Given the description of an element on the screen output the (x, y) to click on. 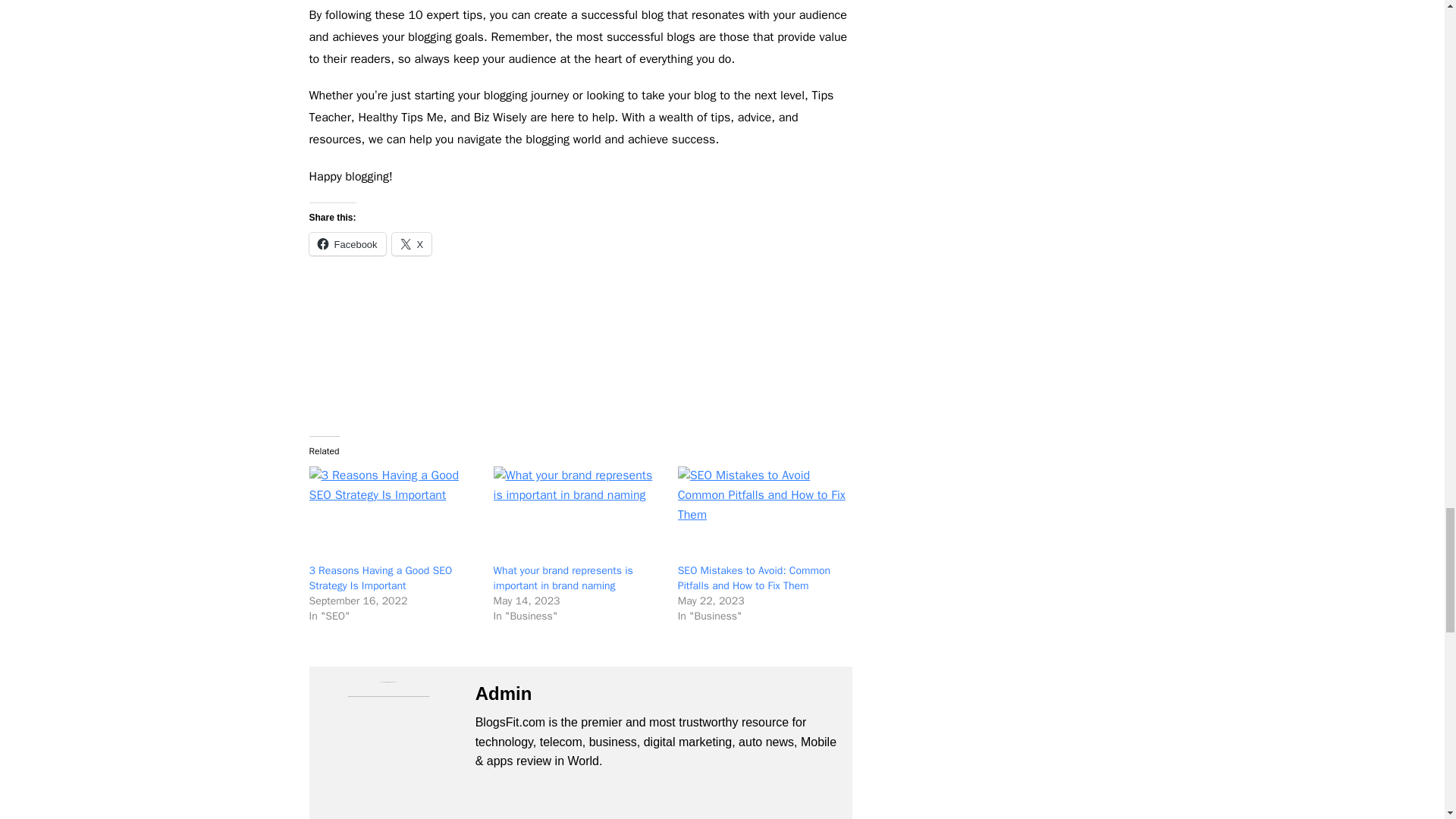
Facebook (346, 243)
3 Reasons Having a Good SEO Strategy Is Important (380, 578)
X (411, 243)
